Given the description of an element on the screen output the (x, y) to click on. 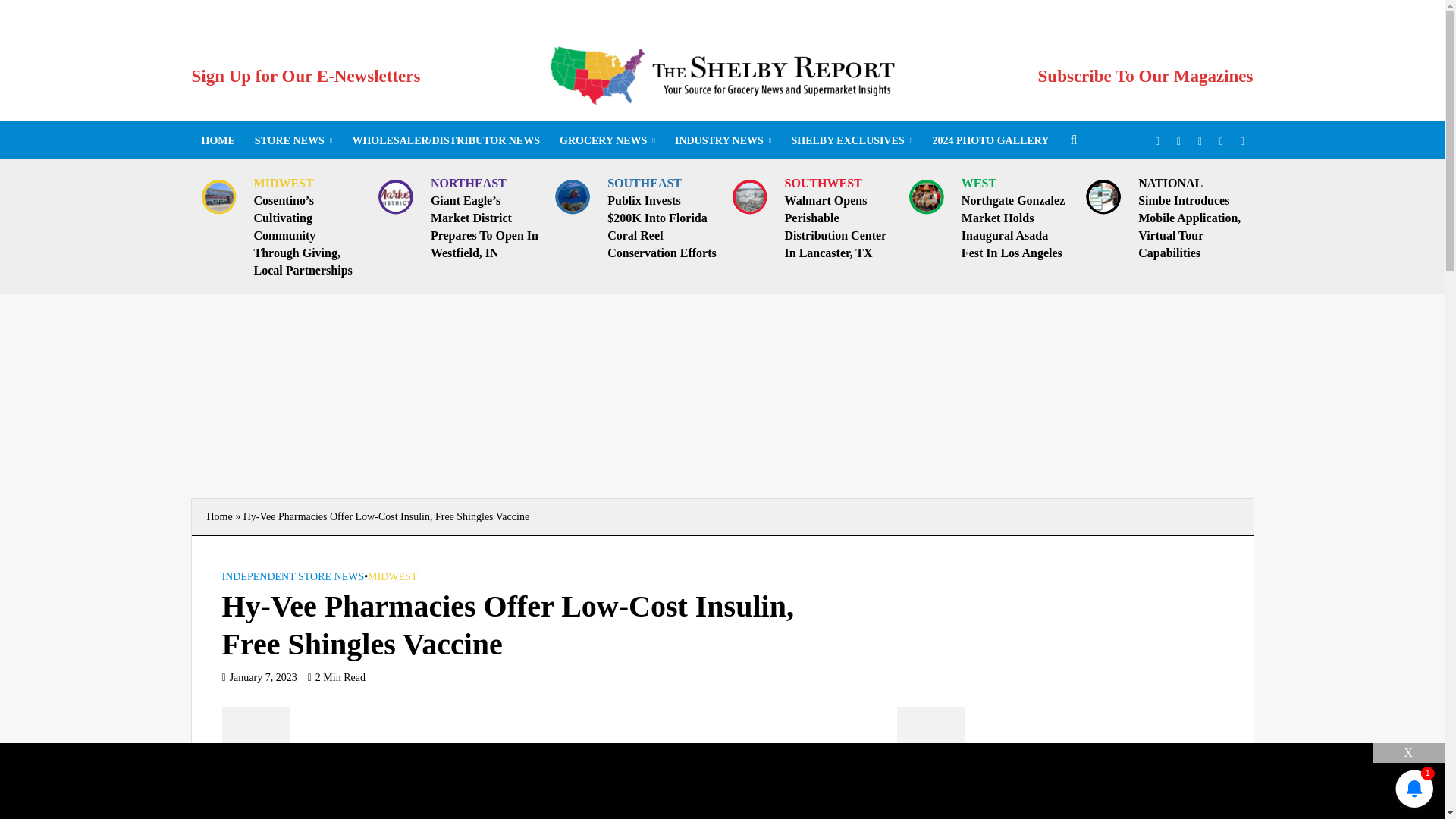
STORE NEWS (293, 140)
Subscribe To Our Magazines (1145, 76)
GROCERY NEWS (607, 140)
3rd party ad content (721, 776)
Sign Up for Our E-Newsletters (305, 76)
HOME (217, 140)
INDUSTRY NEWS (723, 140)
SHELBY EXCLUSIVES (850, 140)
3rd party ad content (1108, 692)
